Given the description of an element on the screen output the (x, y) to click on. 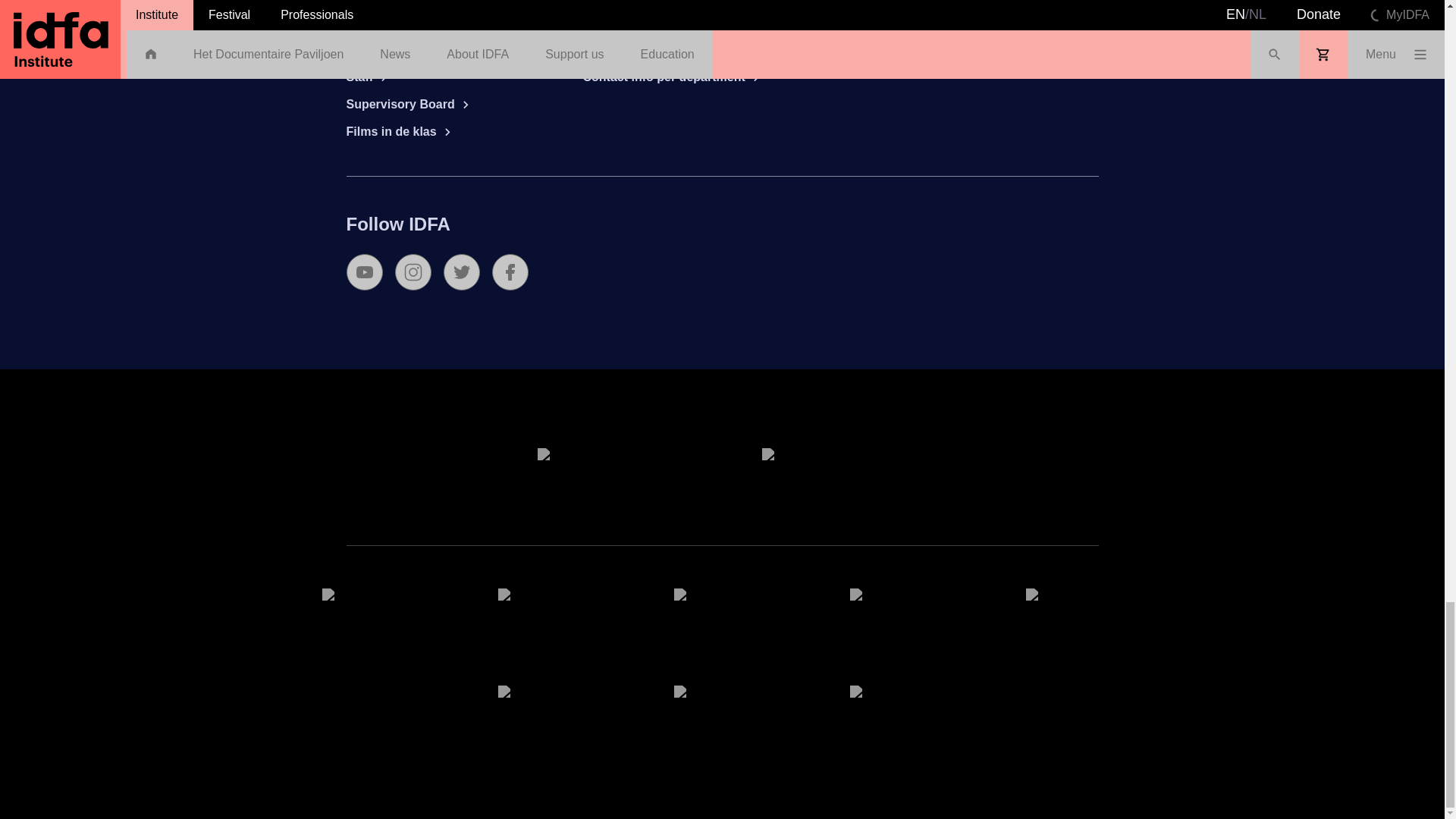
npo (545, 712)
IDFA vrienden (721, 712)
instagram (412, 271)
youtube (363, 271)
WePresent (897, 615)
Deloitte (834, 474)
de Volkskrant (721, 615)
twitter (460, 271)
Fonds21 (545, 615)
Vriendenloterij (609, 474)
facebook (509, 271)
VPRO (370, 615)
Ammodo (1073, 615)
OXFAM (897, 712)
